Given the description of an element on the screen output the (x, y) to click on. 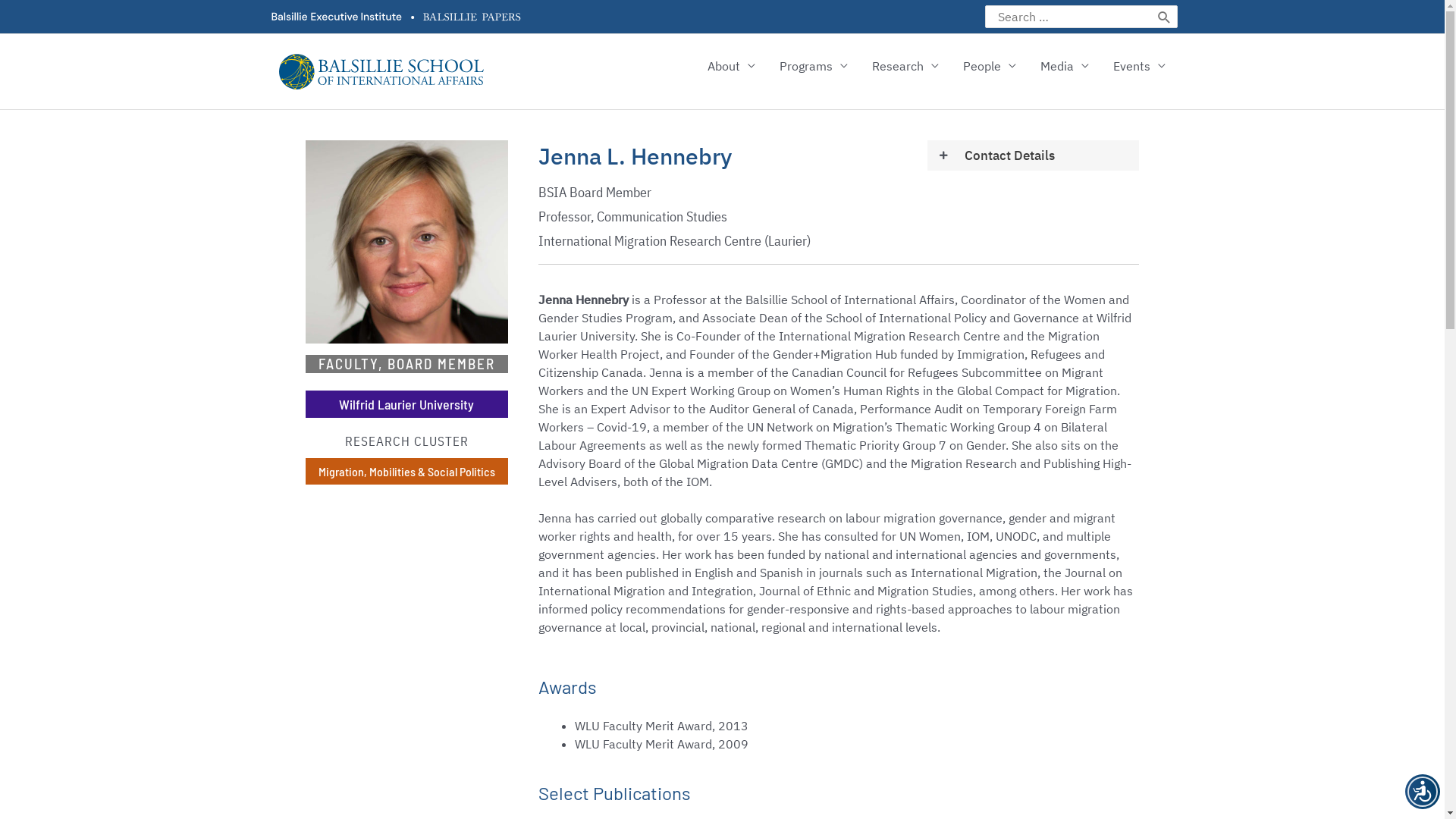
Media Element type: text (1064, 65)
People Element type: text (989, 65)
Migration, Mobilities & Social Politics Element type: text (406, 471)
Search Element type: text (1164, 16)
About Element type: text (730, 65)
Jenna-L.-Hennebry-RS-400x400 Element type: hover (406, 241)
Events Element type: text (1139, 65)
Wilfrid Laurier University Element type: text (405, 403)
Programs Element type: text (813, 65)
Research Element type: text (904, 65)
